Given the description of an element on the screen output the (x, y) to click on. 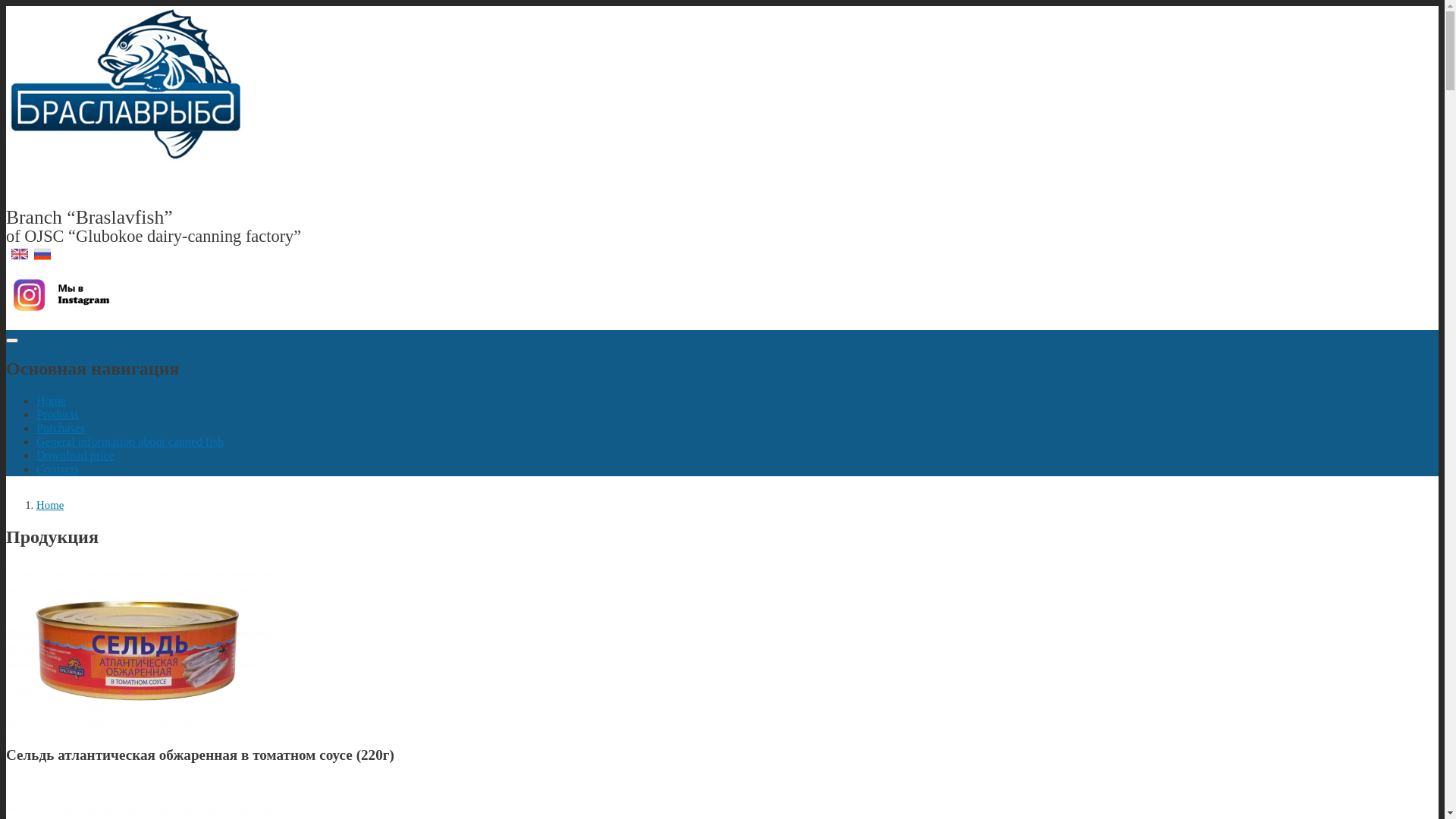
Purchases Element type: text (60, 427)
Download price Element type: text (75, 454)
English Element type: text (19, 253)
Products Element type: text (57, 413)
General information about canned fish Element type: text (129, 441)
Contacts Element type: text (57, 468)
Russian Element type: text (42, 253)
Home Element type: text (49, 504)
Skip to main content Element type: text (722, 7)
Home Element type: text (50, 400)
Home Element type: hover (132, 159)
